Given the description of an element on the screen output the (x, y) to click on. 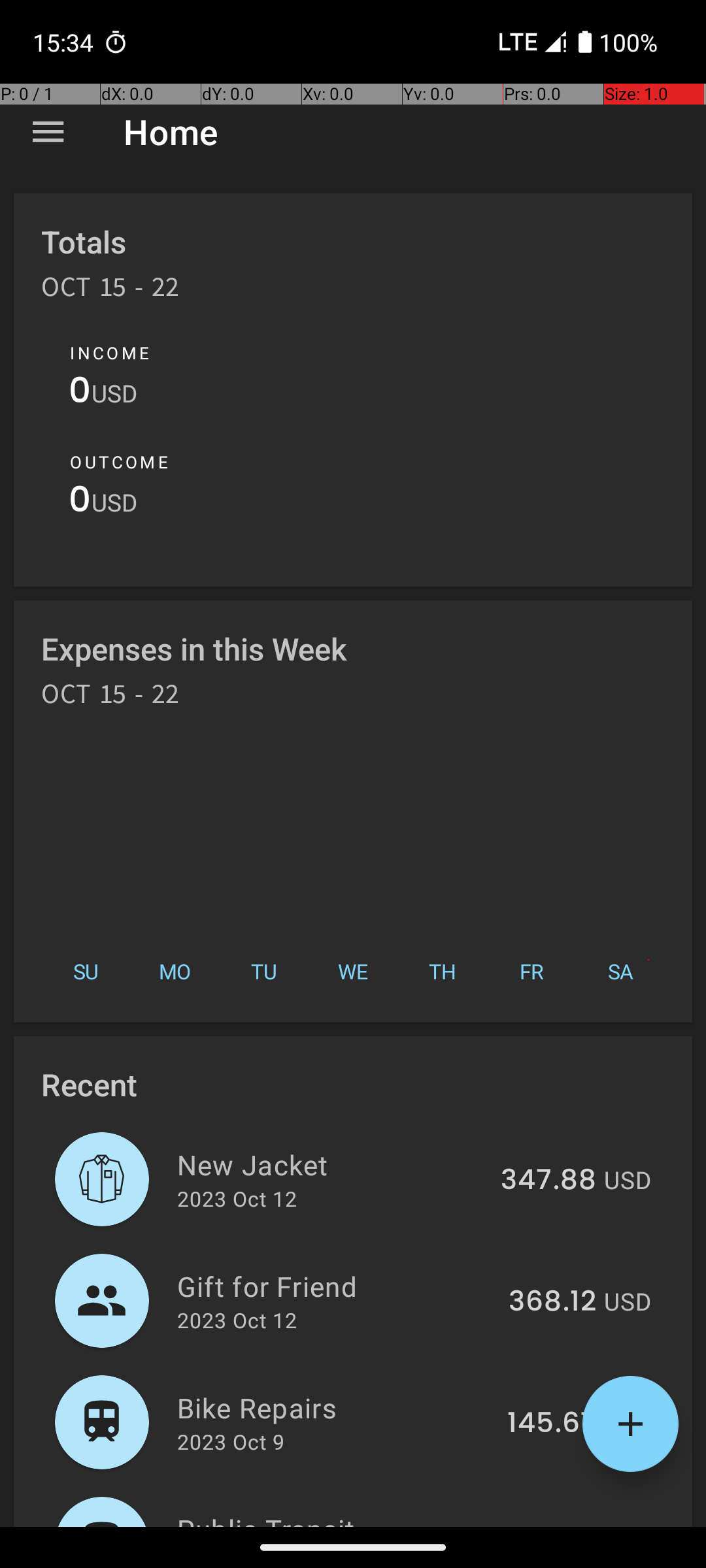
New Jacket Element type: android.widget.TextView (331, 1164)
347.88 Element type: android.widget.TextView (548, 1180)
Gift for Friend Element type: android.widget.TextView (335, 1285)
368.12 Element type: android.widget.TextView (551, 1301)
Bike Repairs Element type: android.widget.TextView (334, 1407)
145.67 Element type: android.widget.TextView (551, 1423)
Public Transit Element type: android.widget.TextView (333, 1518)
154.05 Element type: android.widget.TextView (550, 1524)
